Given the description of an element on the screen output the (x, y) to click on. 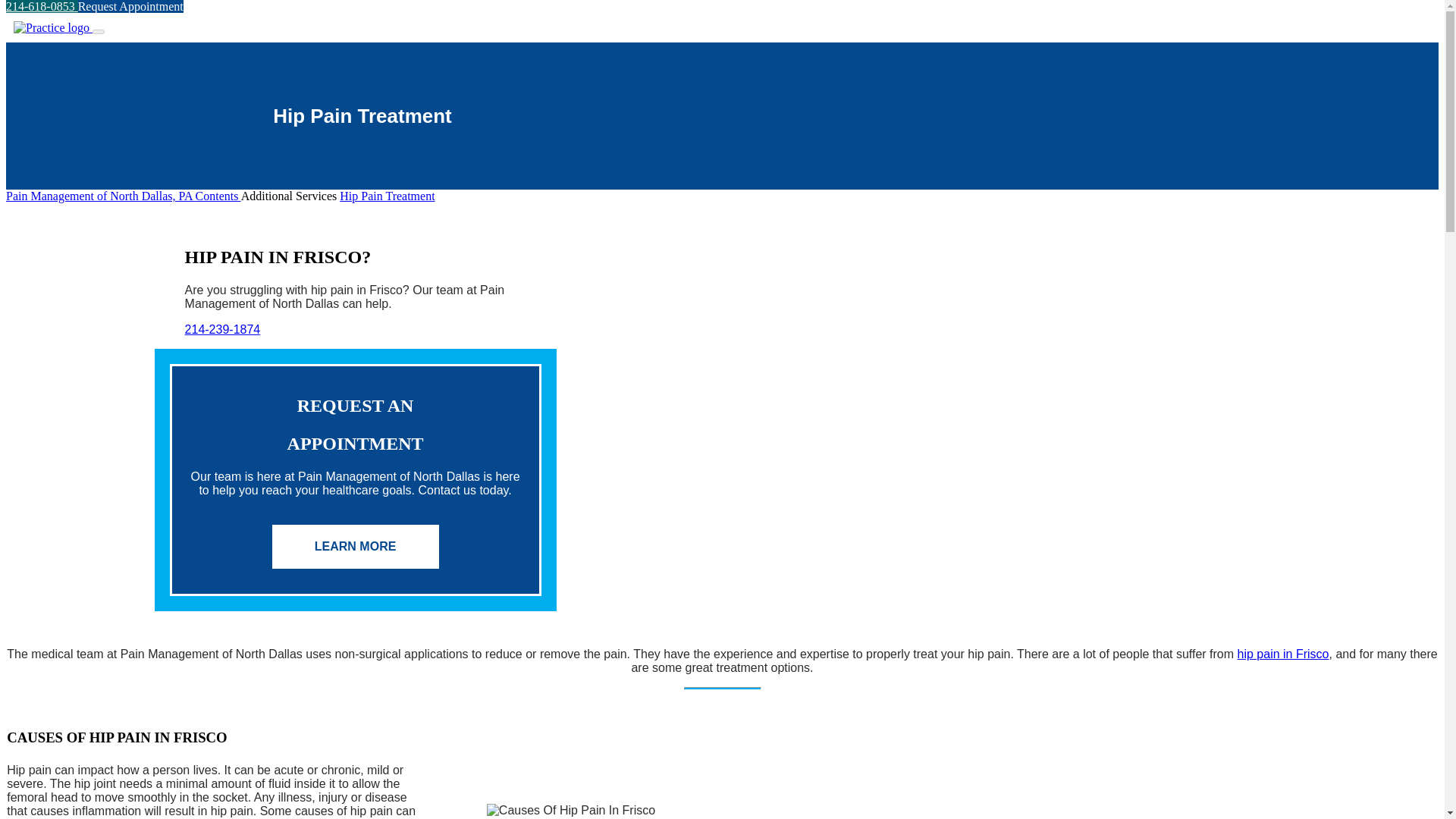
Hip Pain Treatment (386, 195)
214-618-0853 (41, 6)
Pain Management of North Dallas, PA (100, 195)
Contents (218, 195)
Request Appointment (130, 6)
Additional Services (290, 195)
